Given the description of an element on the screen output the (x, y) to click on. 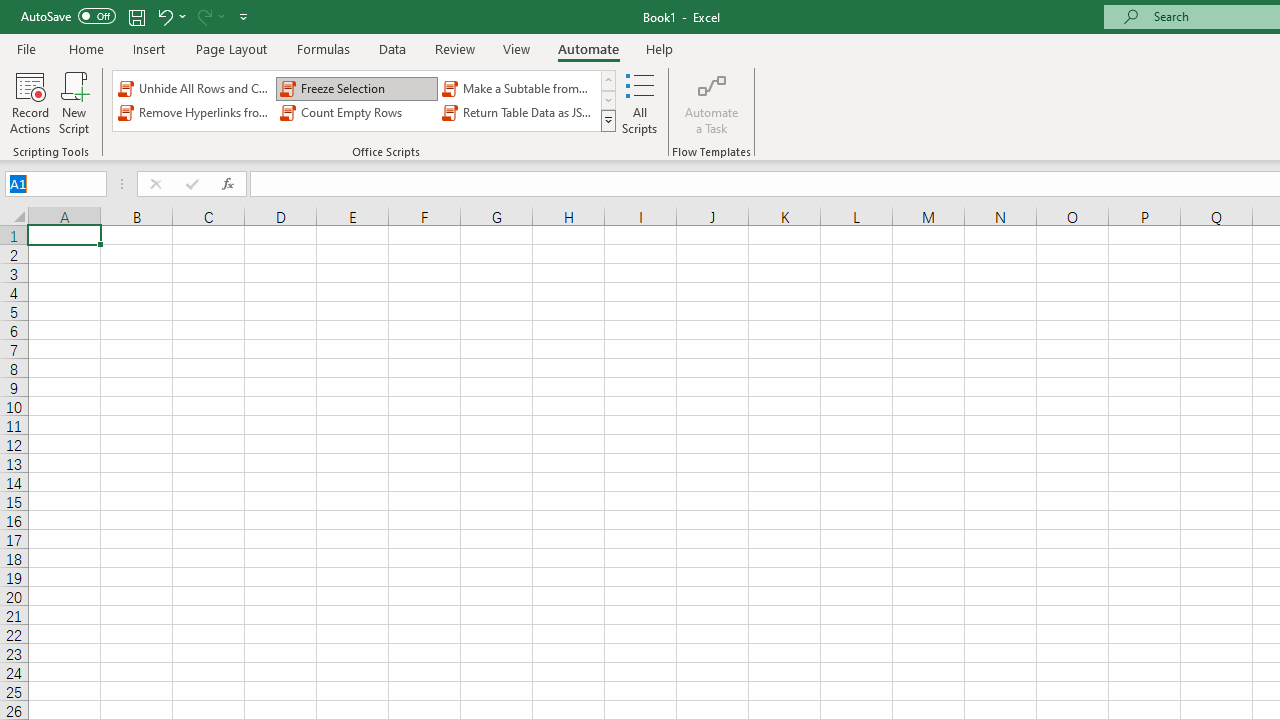
New Script (73, 102)
Count Empty Rows (356, 112)
Record Actions (29, 102)
Freeze Selection (356, 88)
Return Table Data as JSON (518, 112)
